Given the description of an element on the screen output the (x, y) to click on. 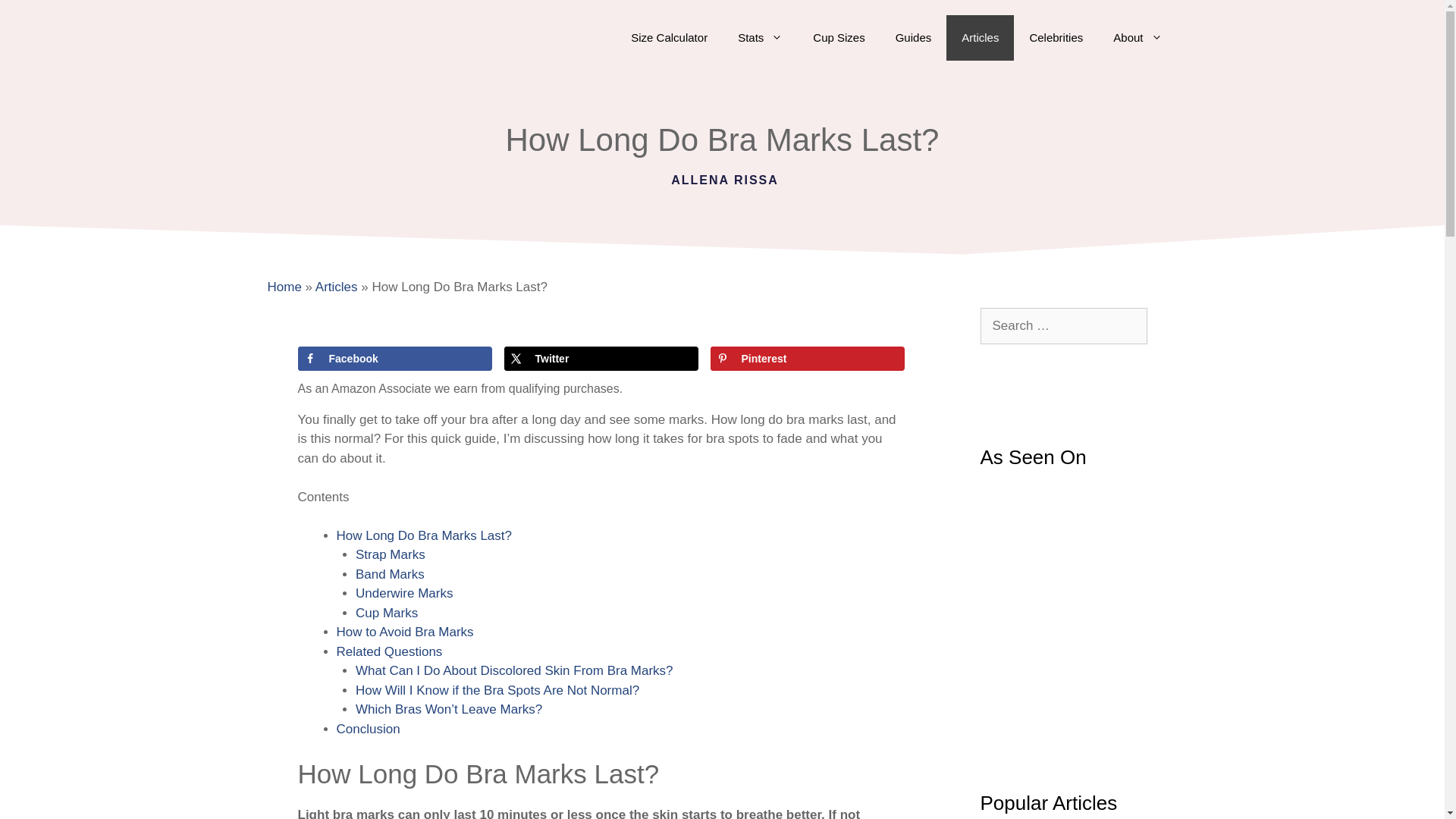
Articles (979, 37)
How Long Do Bra Marks Last? (424, 535)
How Will I Know if the Bra Spots Are Not Normal? (497, 690)
Related Questions (389, 651)
Articles (336, 287)
Celebrities (1055, 37)
Share on X (600, 358)
Twitter (600, 358)
Save to Pinterest (807, 358)
How to Avoid Bra Marks (405, 631)
ALLENA RISSA (724, 179)
Stats (759, 37)
Home (283, 287)
Strap Marks (390, 554)
Cup Sizes (838, 37)
